Given the description of an element on the screen output the (x, y) to click on. 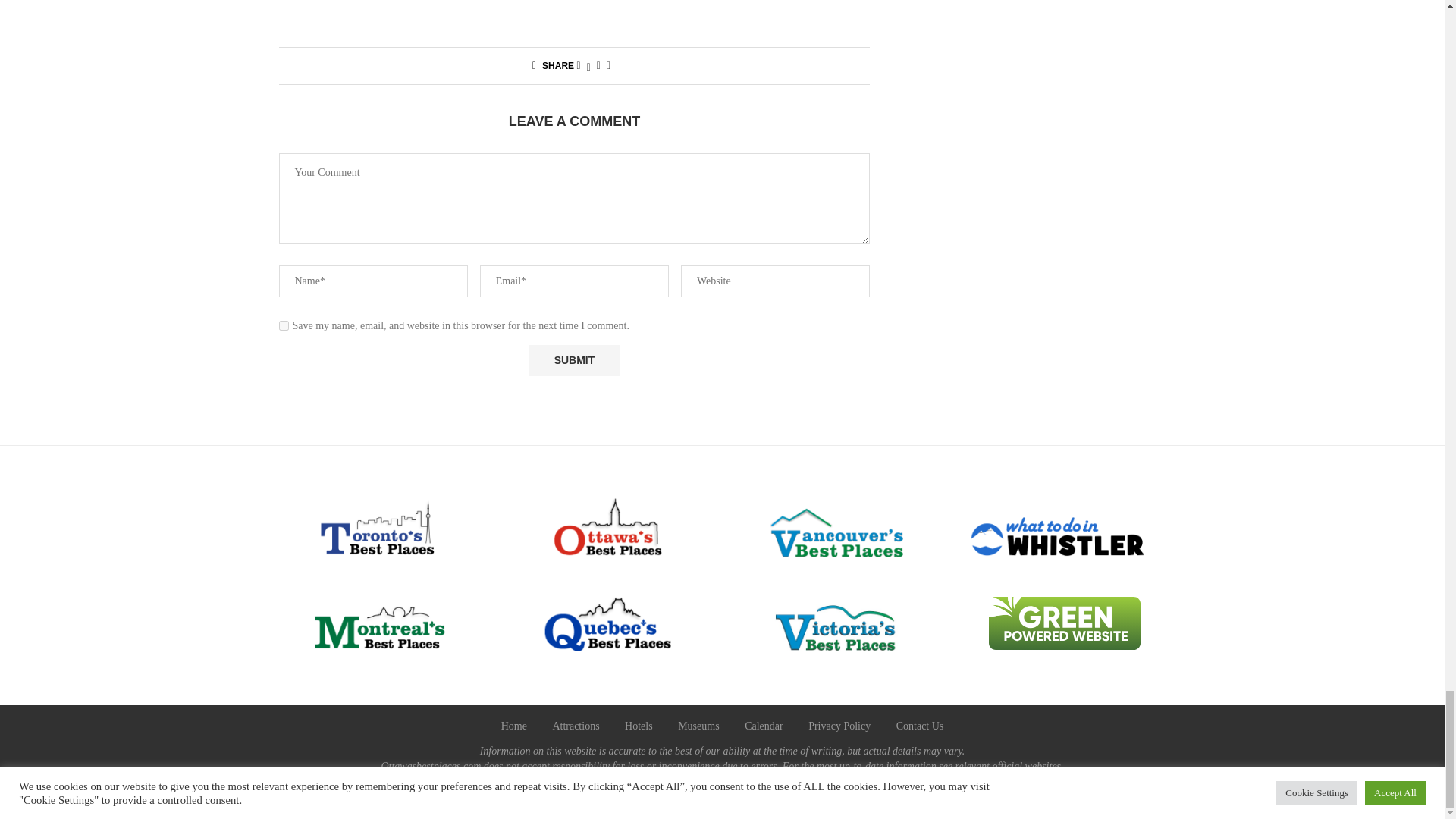
Submit (574, 359)
yes (283, 325)
Submit (574, 359)
